Given the description of an element on the screen output the (x, y) to click on. 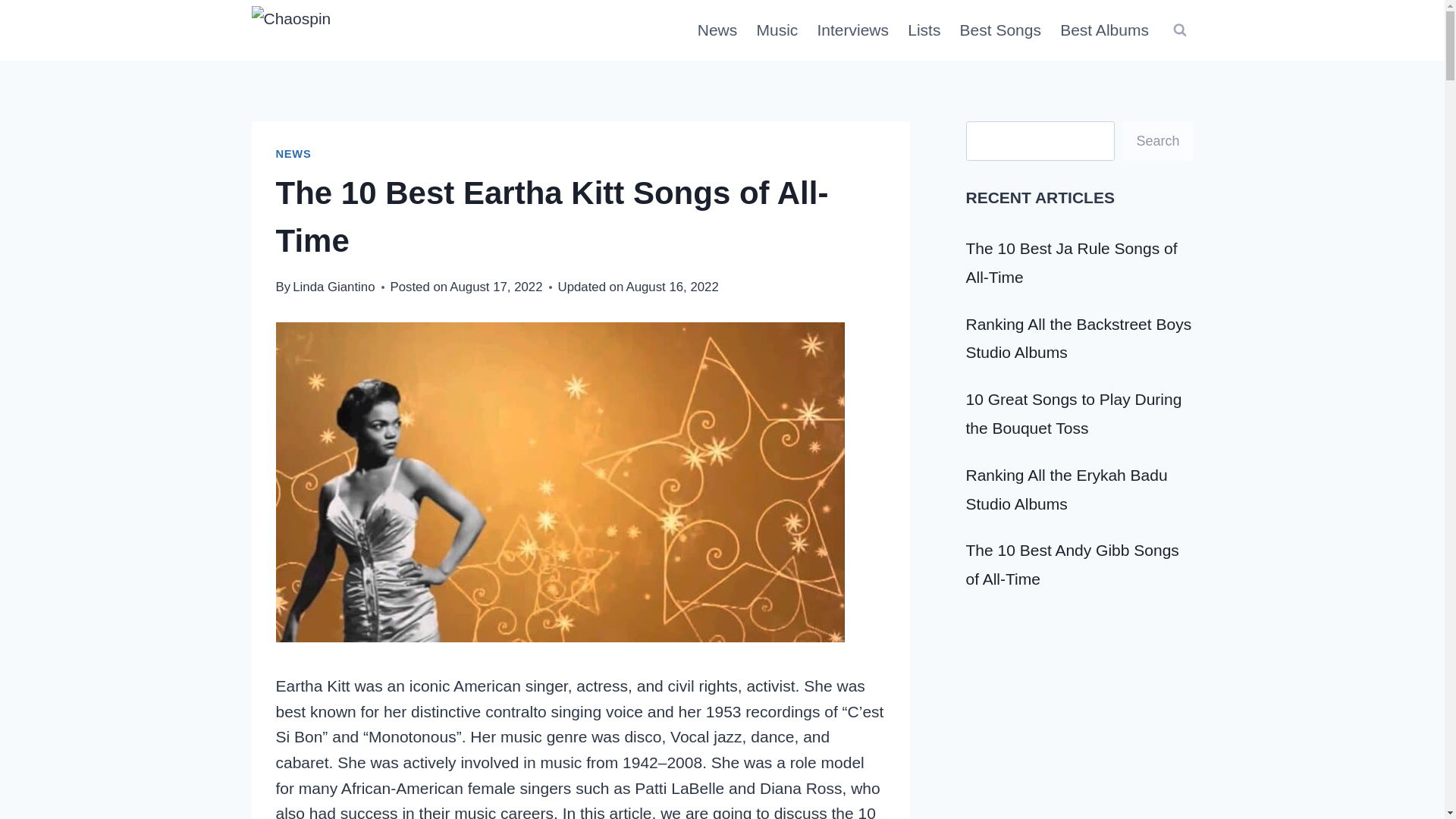
Lists (924, 30)
NEWS (293, 153)
News (716, 30)
Best Songs (1000, 30)
Best Albums (1104, 30)
Music (777, 30)
Interviews (853, 30)
Linda Giantino (333, 287)
